Given the description of an element on the screen output the (x, y) to click on. 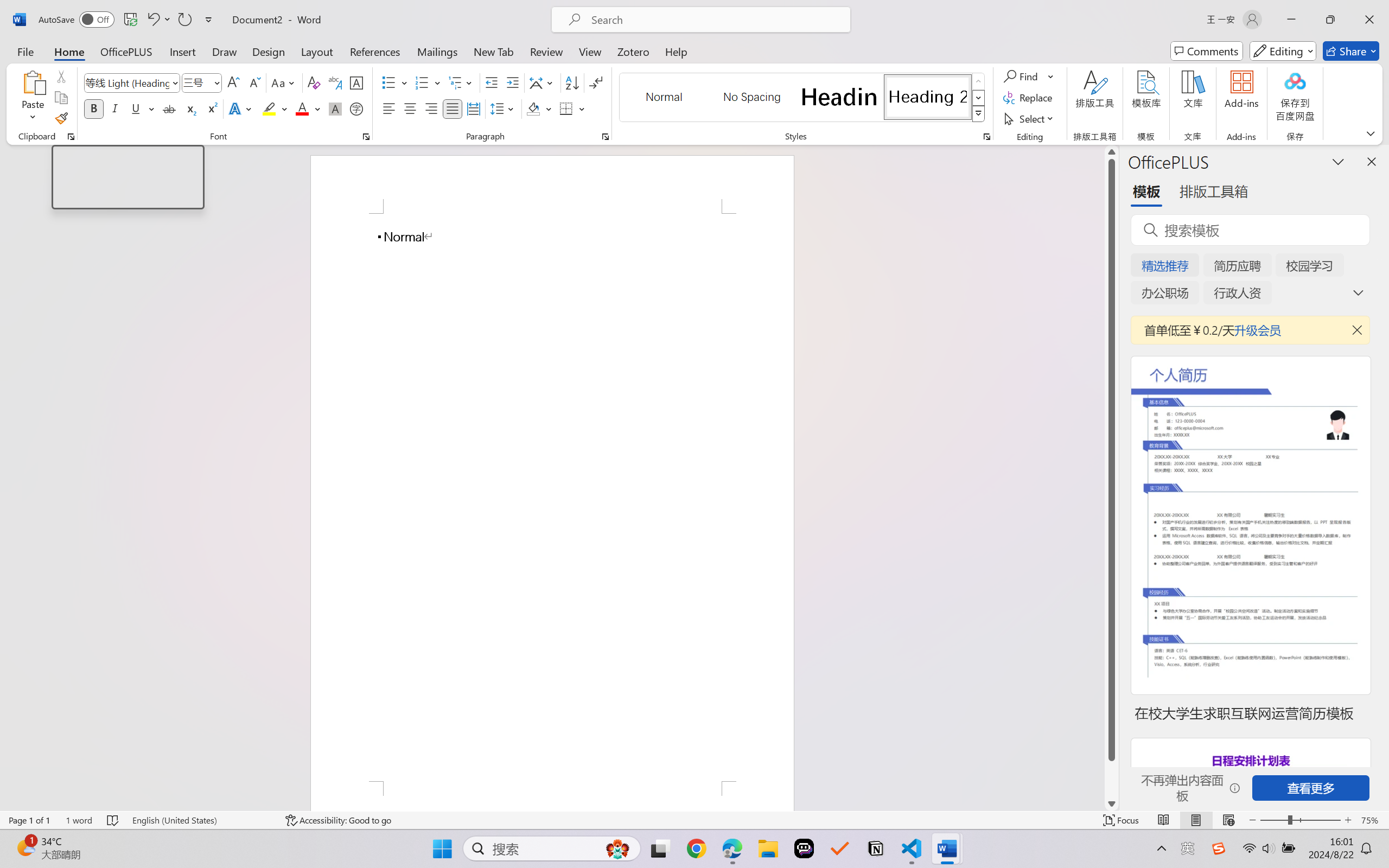
Help (675, 51)
Borders (571, 108)
Asian Layout (542, 82)
Font Color (308, 108)
AutoSave (76, 19)
Design (268, 51)
Line up (1111, 151)
Styles... (986, 136)
Find (1029, 75)
Close (1369, 19)
Quick Access Toolbar (127, 19)
Enclose Characters... (356, 108)
